Given the description of an element on the screen output the (x, y) to click on. 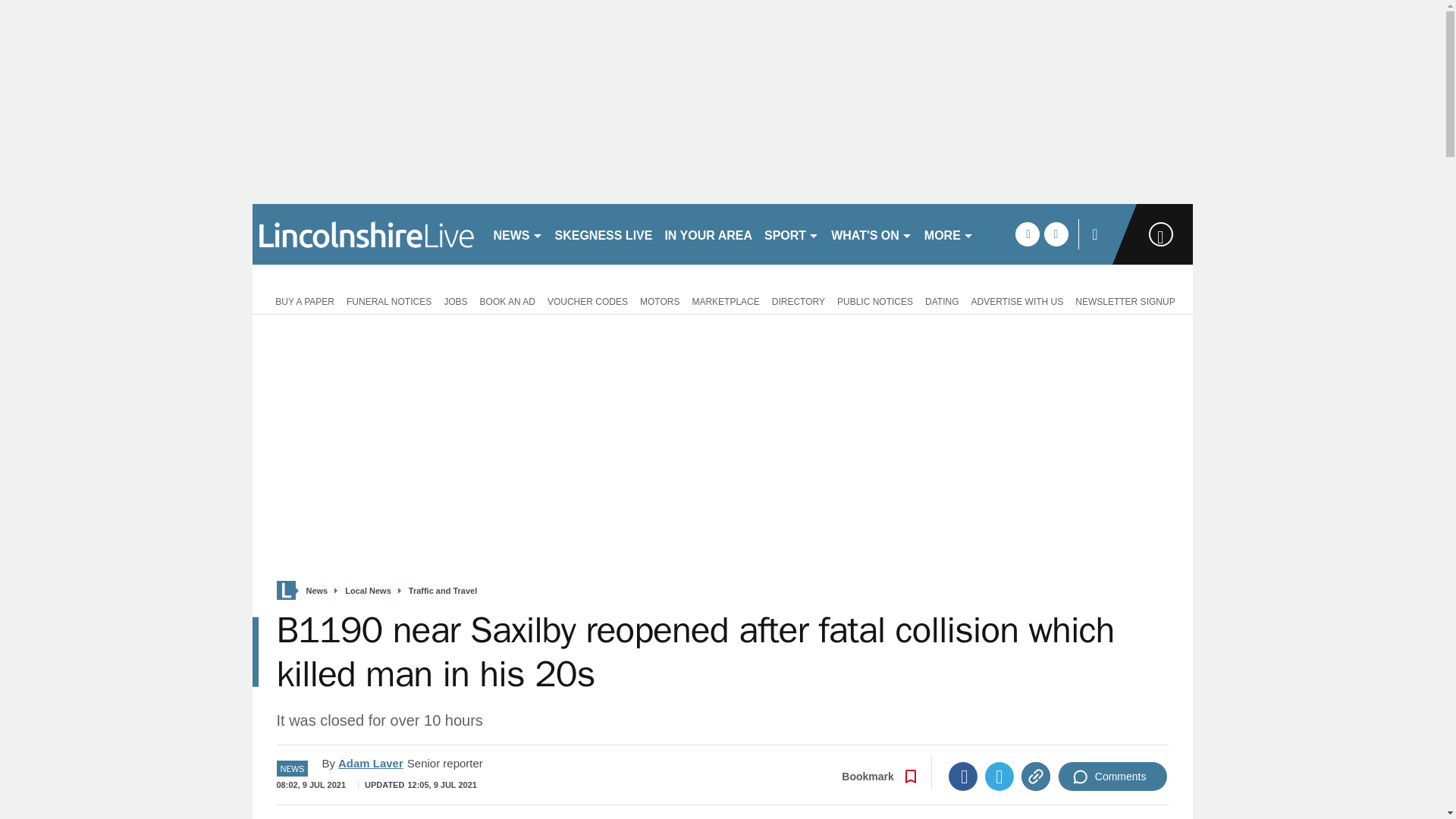
NEWS (517, 233)
lincolnshirelive (365, 233)
twitter (1055, 233)
SPORT (791, 233)
Facebook (962, 776)
facebook (1026, 233)
SKEGNESS LIVE (603, 233)
Comments (1112, 776)
BUY A PAPER (301, 300)
Twitter (999, 776)
